Given the description of an element on the screen output the (x, y) to click on. 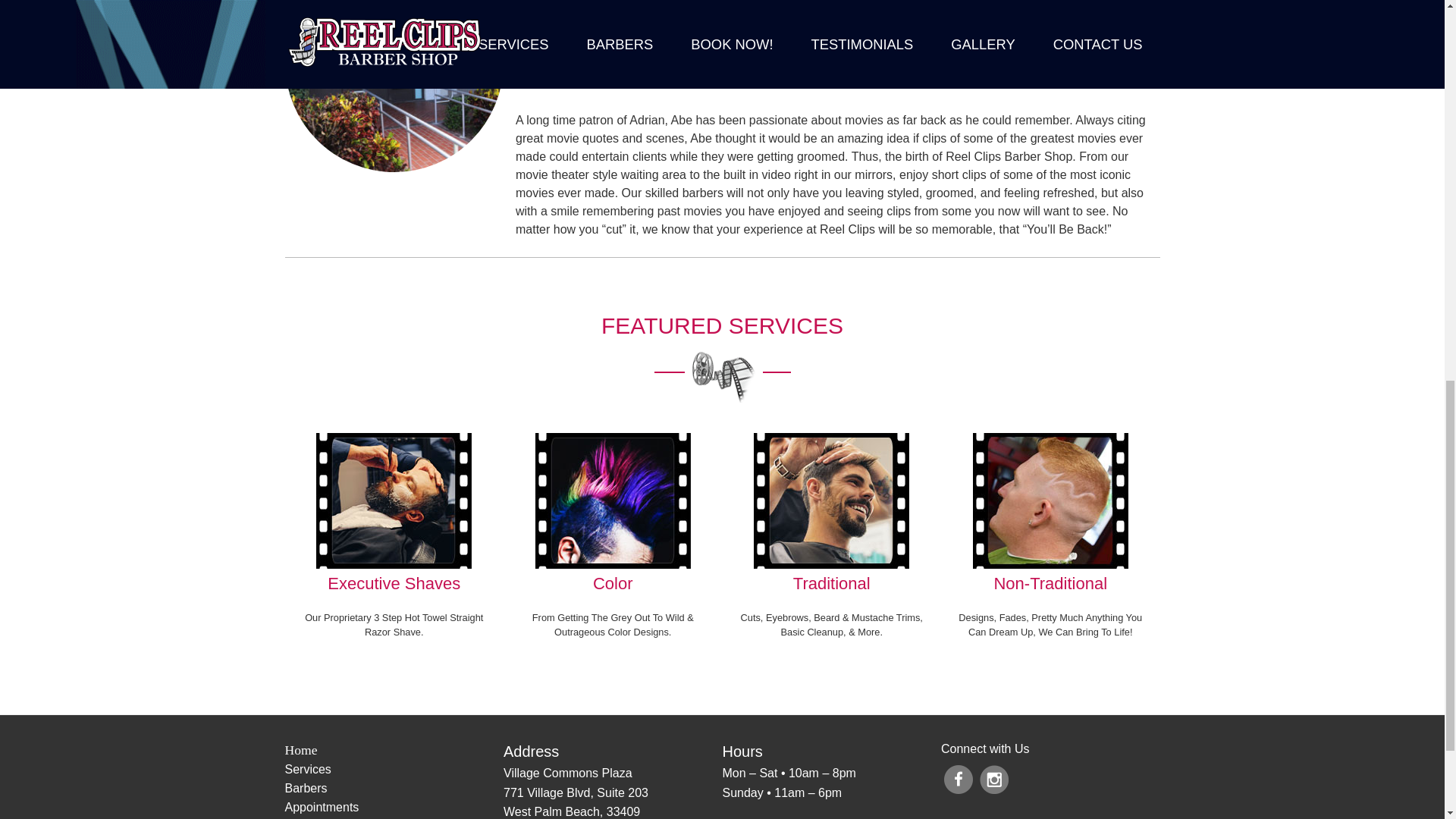
Home (394, 749)
Appointments (394, 807)
Services (394, 769)
LookBook (394, 817)
Barbers (394, 788)
